Given the description of an element on the screen output the (x, y) to click on. 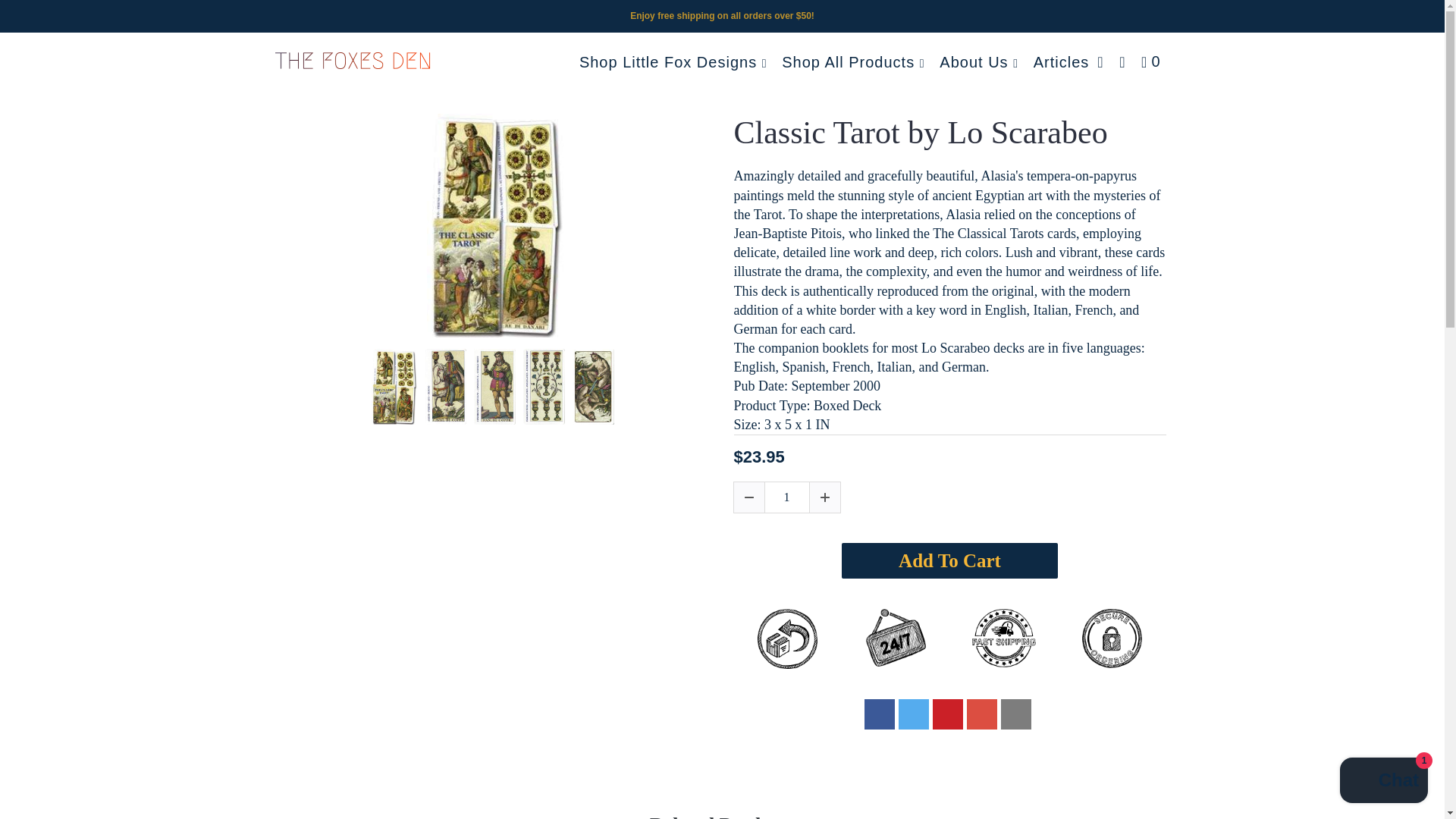
1 (786, 497)
email (1015, 714)
pinterest (947, 714)
The Foxes Den (352, 53)
facebook (879, 714)
twitter (913, 714)
googleplus (981, 714)
